Given the description of an element on the screen output the (x, y) to click on. 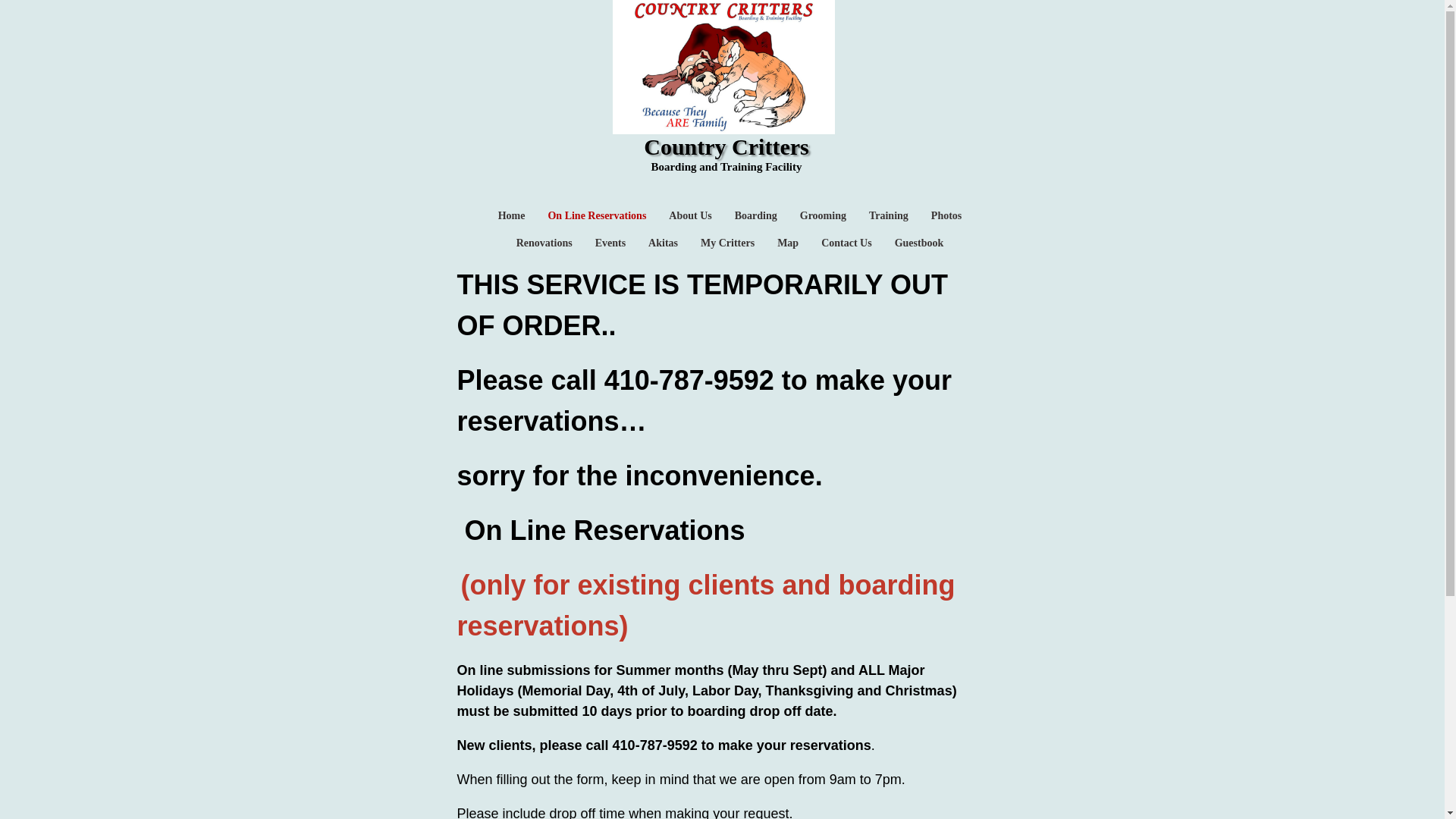
Grooming (822, 216)
Training (888, 216)
About Us (689, 216)
Country Critters (725, 147)
Boarding (756, 216)
Home (511, 216)
Renovations (544, 243)
Events (610, 243)
On Line Reservations (596, 216)
Akitas (662, 243)
Boarding and Training Facility (726, 166)
Photos (945, 216)
